Given the description of an element on the screen output the (x, y) to click on. 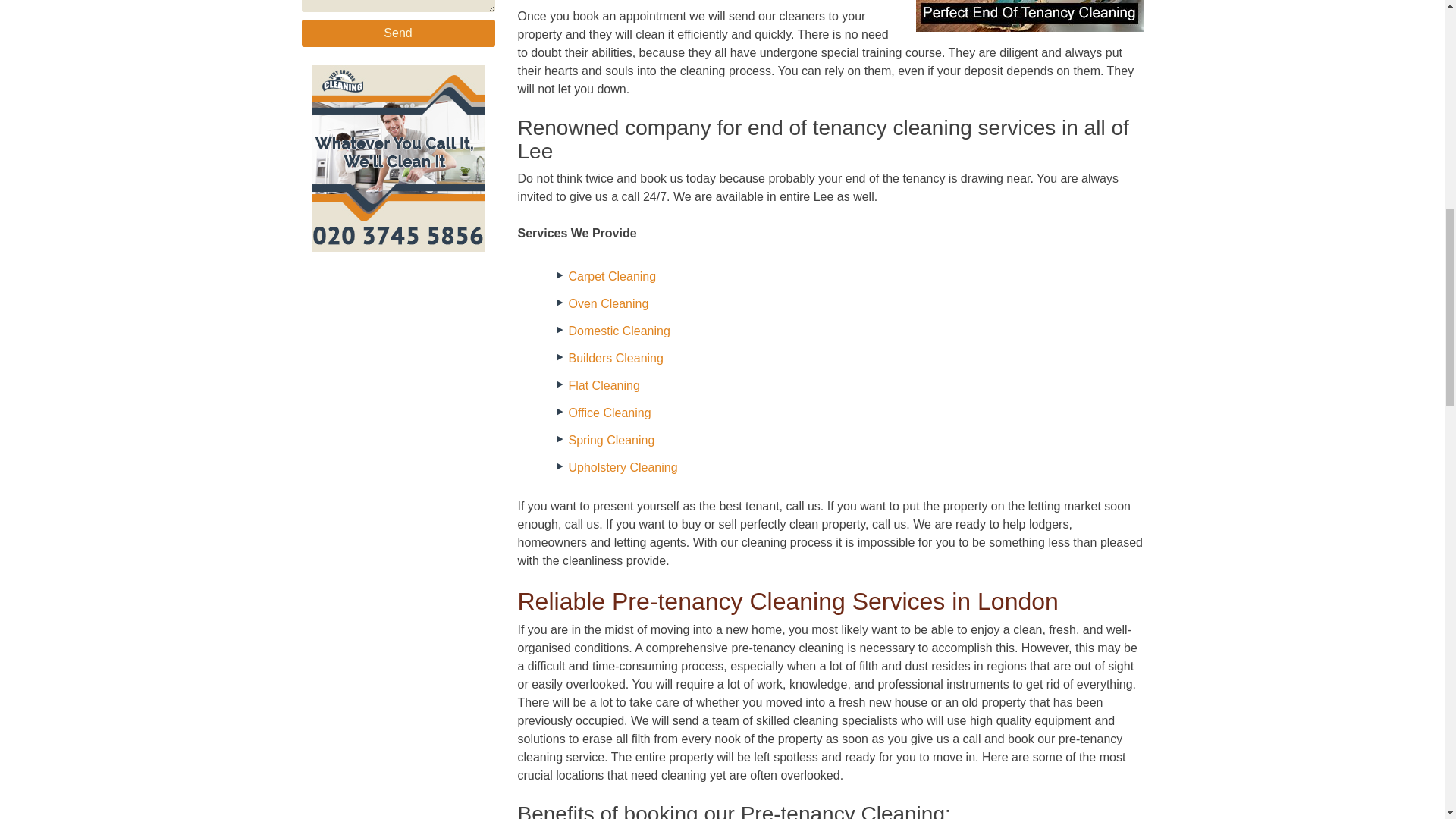
Send (398, 32)
Send (398, 32)
